Given the description of an element on the screen output the (x, y) to click on. 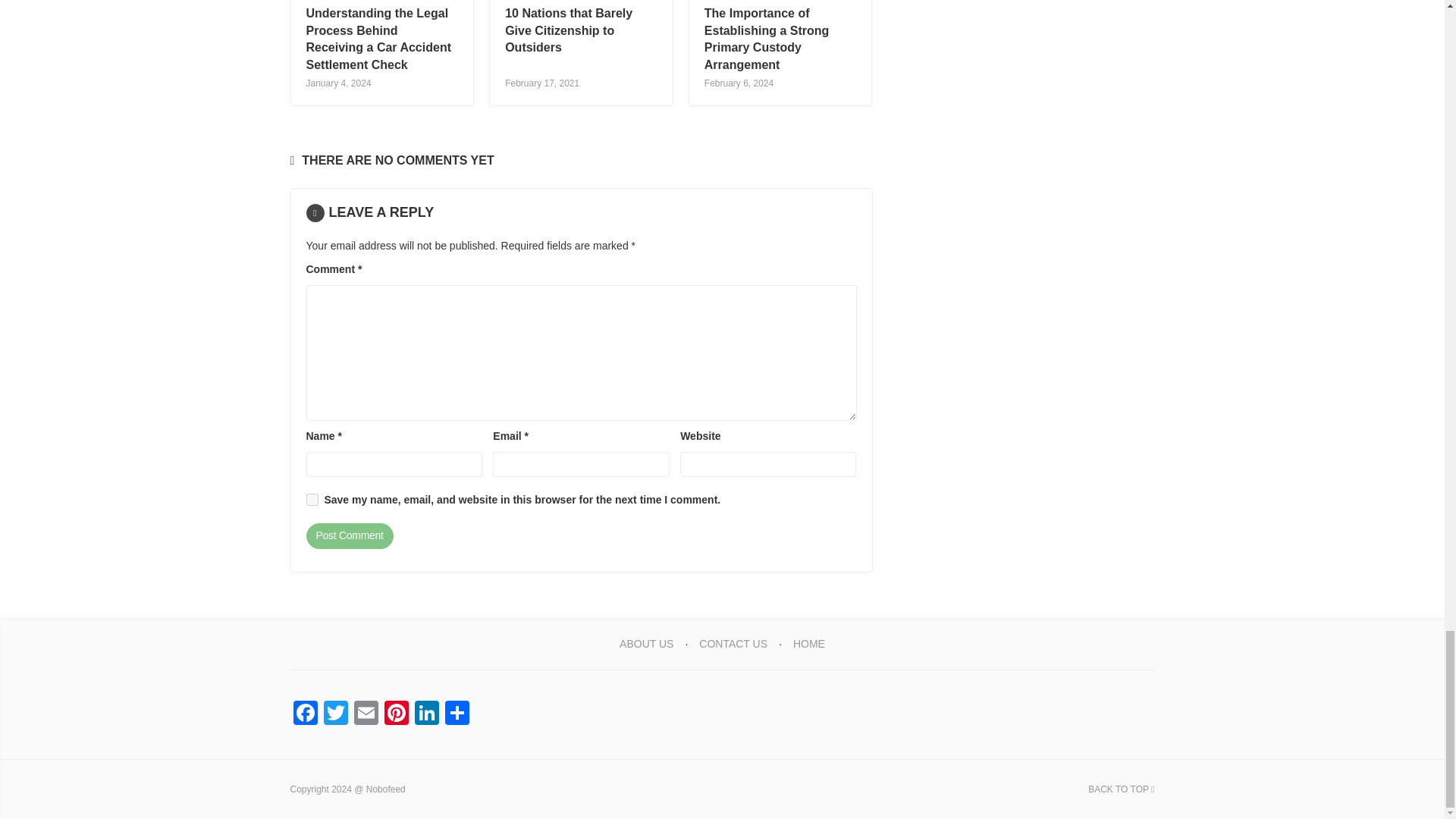
yes (311, 499)
Post Comment (349, 535)
BACK TO TOP  (1120, 789)
